Given the description of an element on the screen output the (x, y) to click on. 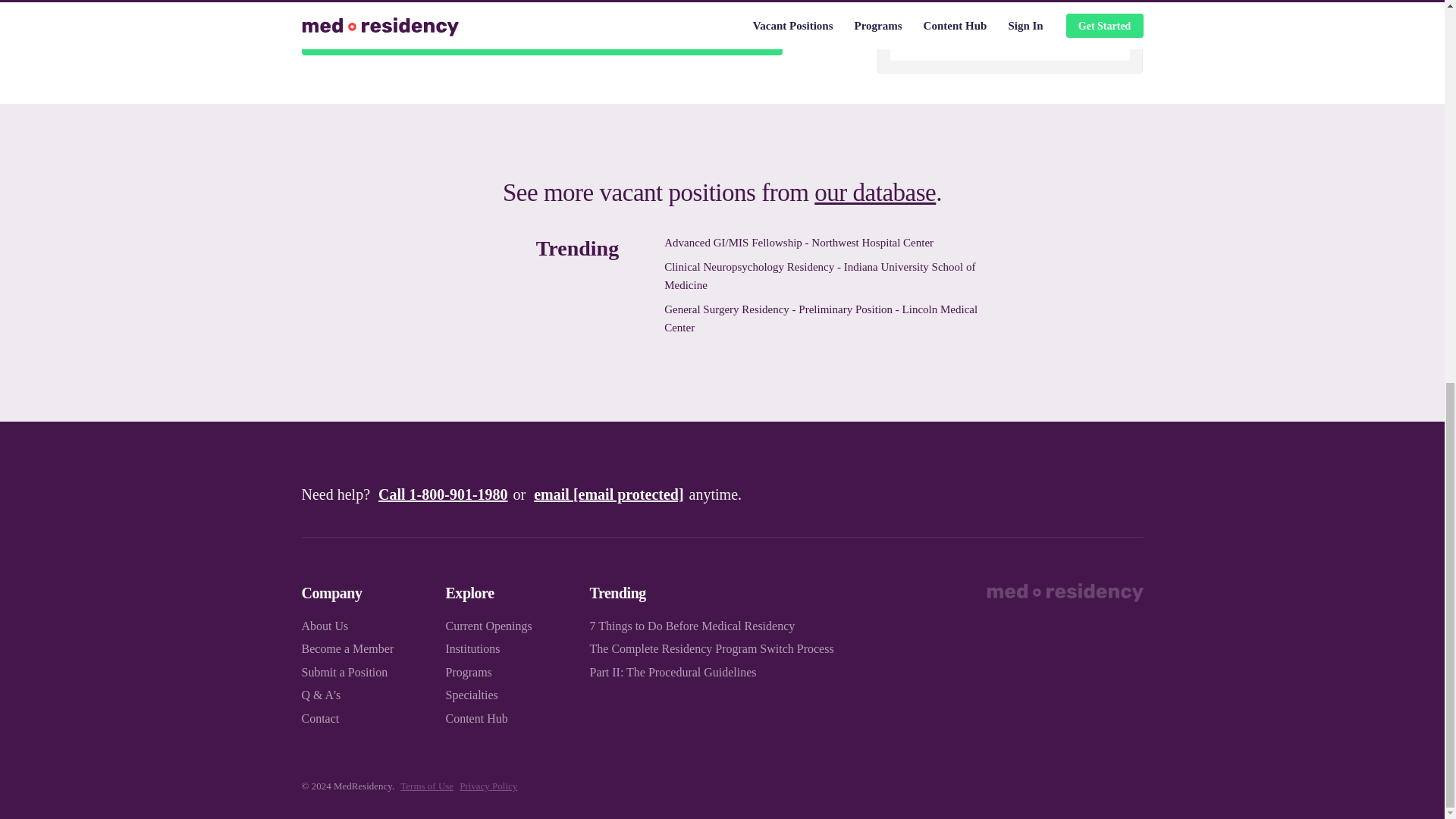
Specialties (471, 694)
Institutions (472, 648)
About Us (325, 625)
Become a Member (347, 648)
Become a Member (542, 37)
Contact (320, 717)
Submit a Position (344, 671)
our database (874, 192)
Current Openings (488, 625)
Content Hub (476, 717)
UCLA David Geffen School of Medicine (1010, 24)
Programs (468, 671)
